Given the description of an element on the screen output the (x, y) to click on. 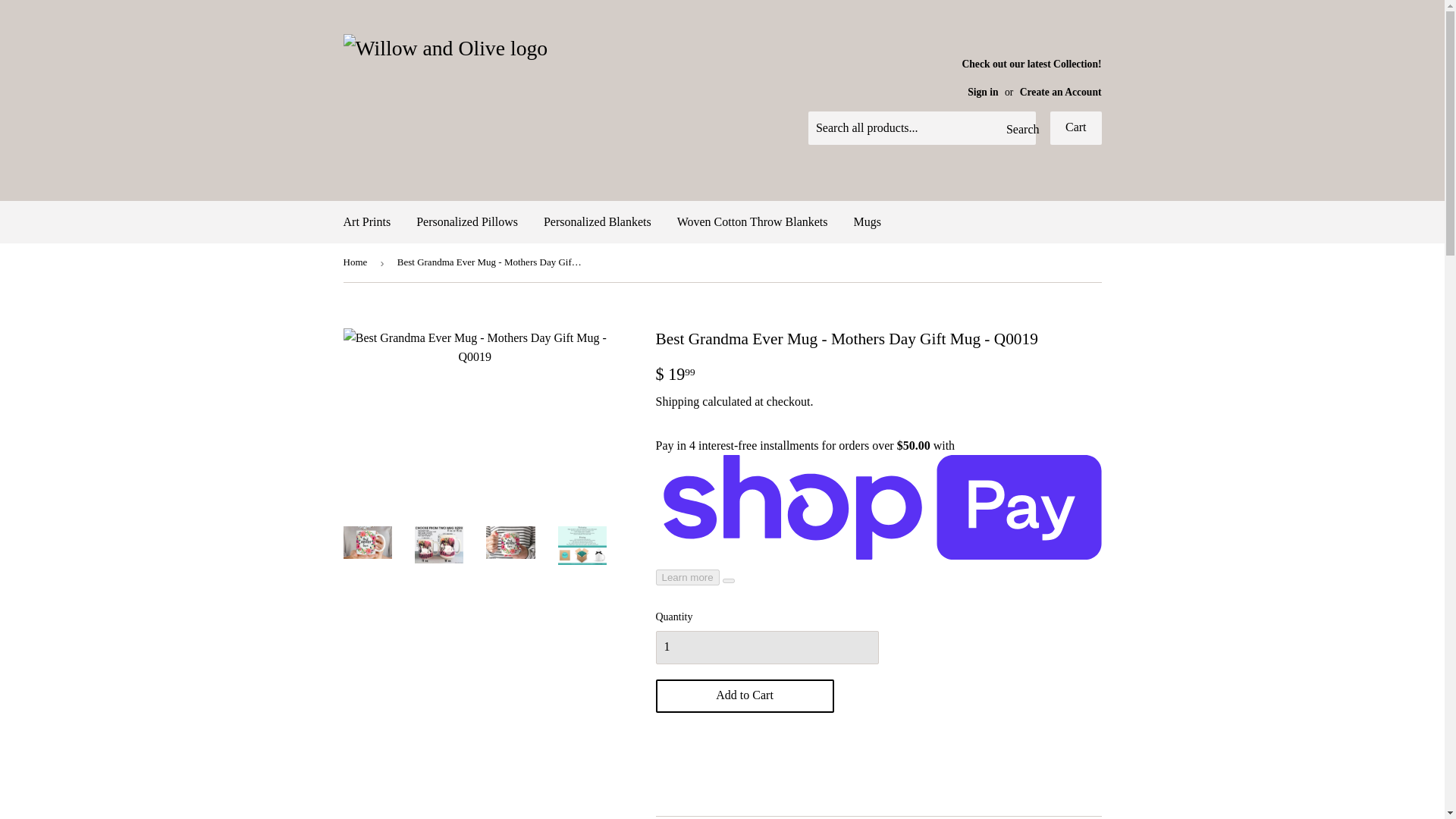
Shipping (676, 400)
Search (1018, 128)
Create an Account (1061, 91)
Add to Cart (743, 695)
Cart (1075, 127)
Woven Cotton Throw Blankets (752, 221)
1 (766, 647)
Art Prints (367, 221)
Personalized Blankets (597, 221)
Check out our latest Collection! (1028, 76)
